Given the description of an element on the screen output the (x, y) to click on. 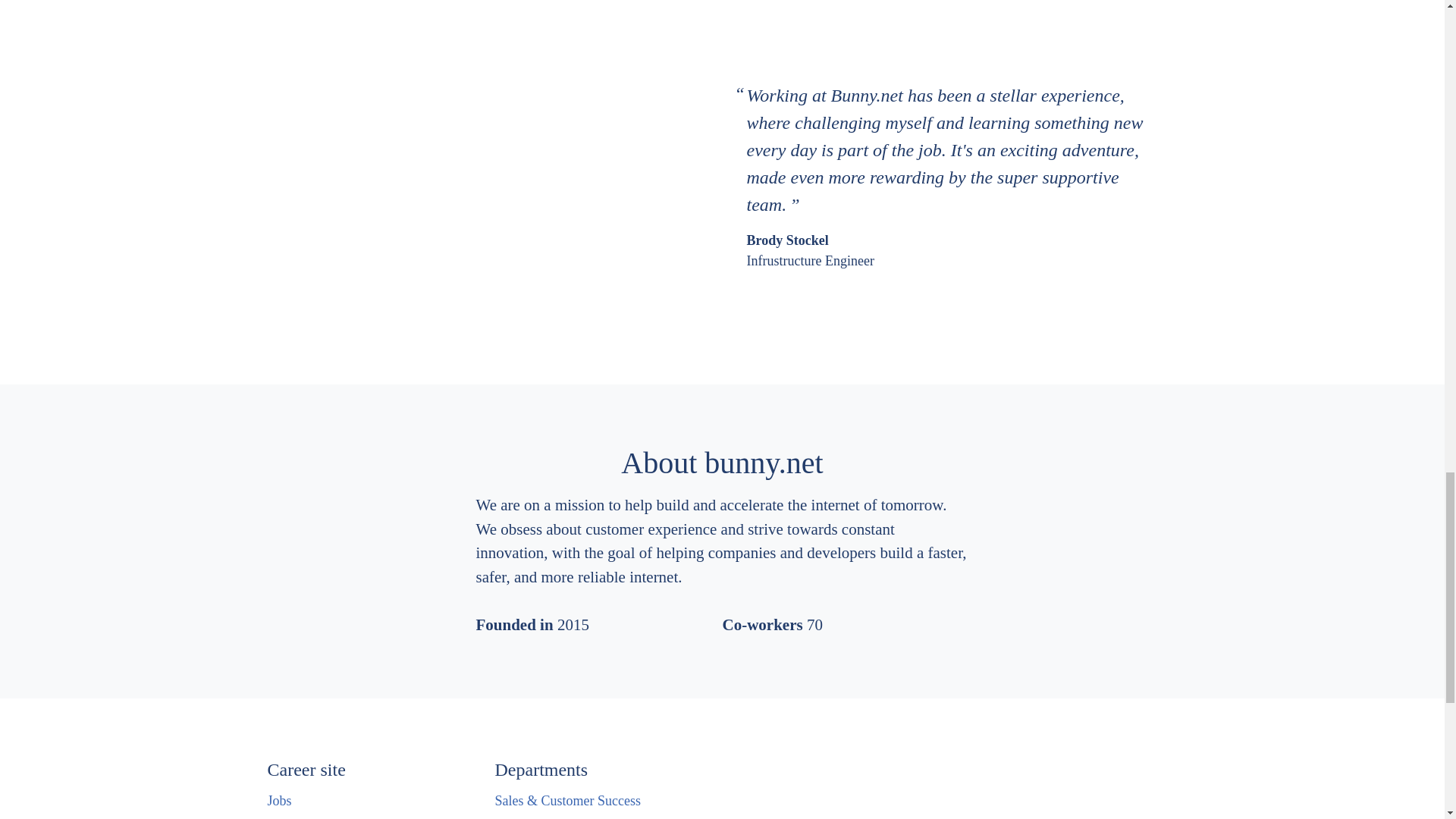
Support (516, 816)
Jobs (278, 800)
People (285, 816)
